Given the description of an element on the screen output the (x, y) to click on. 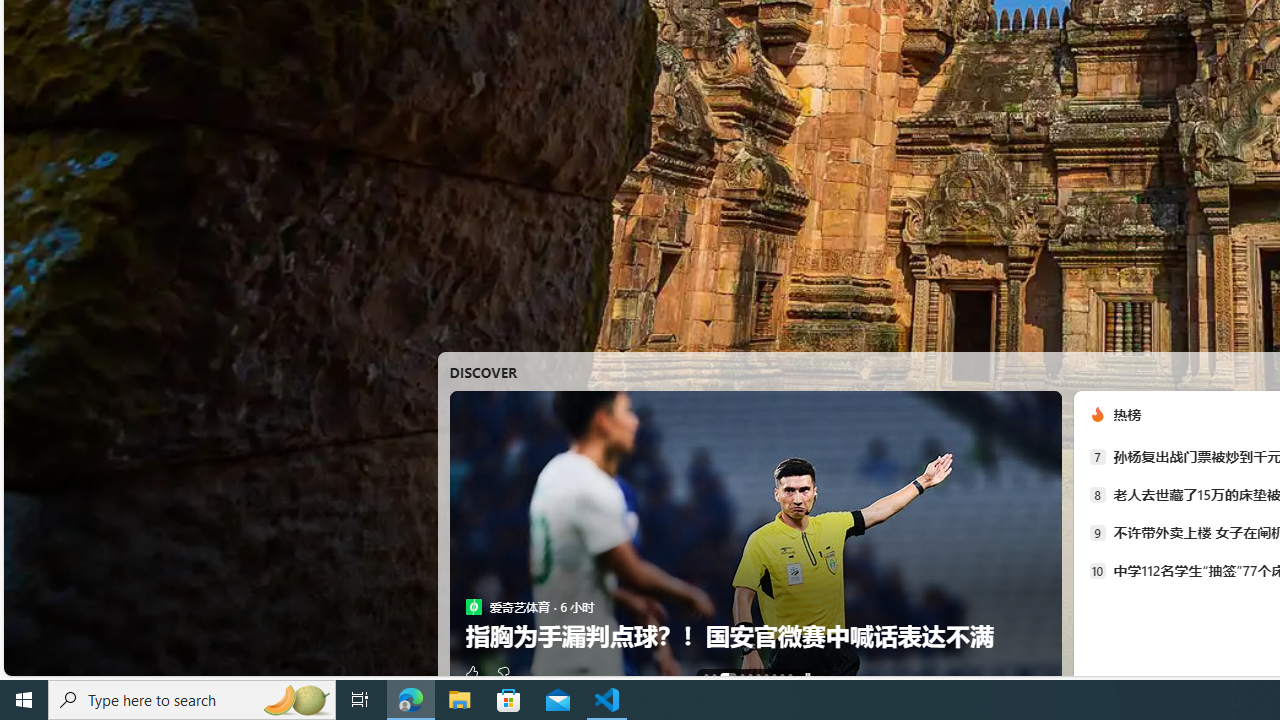
AutomationID: tab-7 (774, 675)
